Given the description of an element on the screen output the (x, y) to click on. 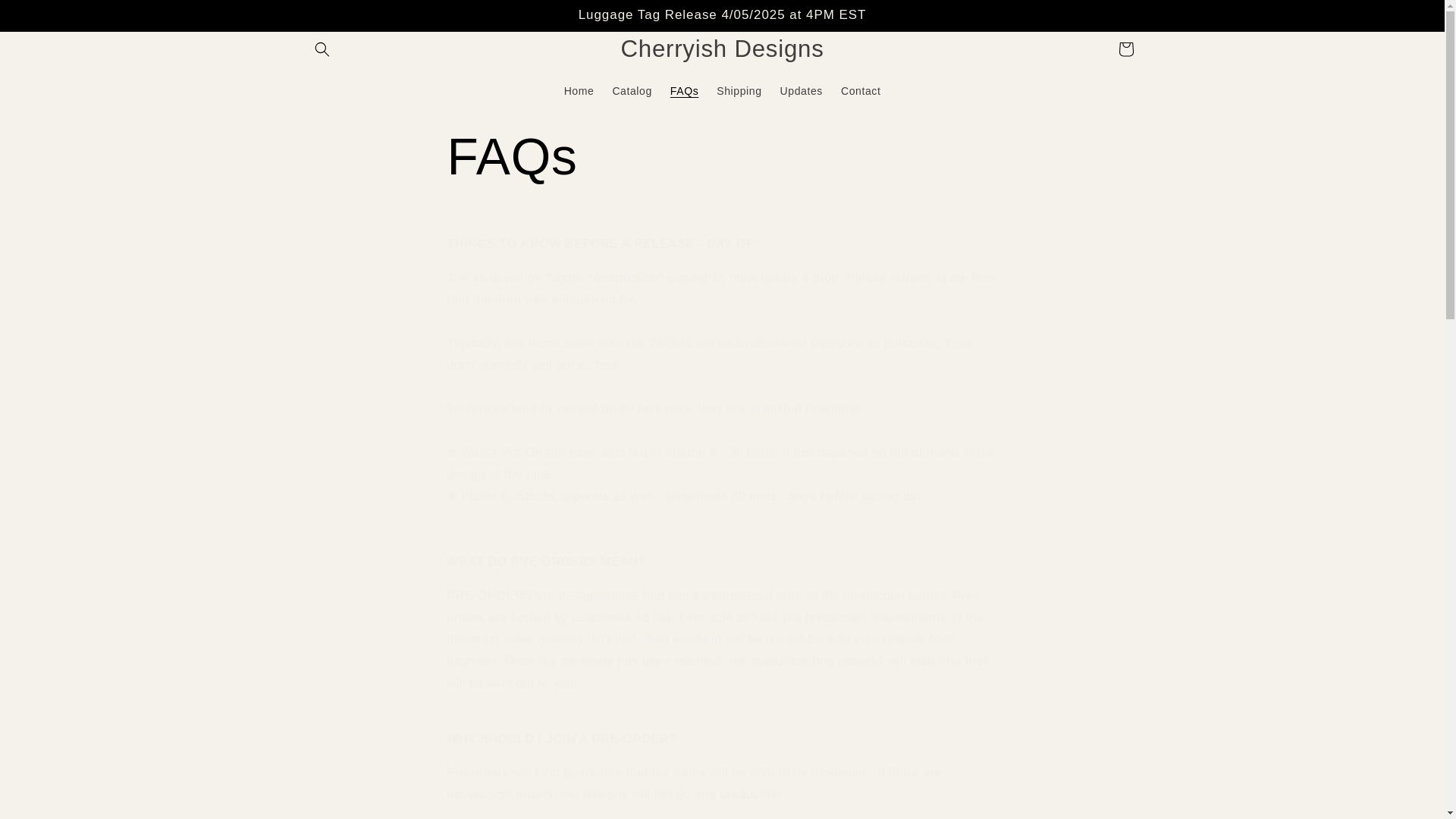
Skip to content (45, 17)
Contact (860, 90)
Shipping (738, 90)
Home (579, 90)
Cherryish Designs (721, 48)
FAQs (721, 156)
Cart (1124, 49)
Updates (801, 90)
FAQs (684, 90)
Catalog (631, 90)
